Given the description of an element on the screen output the (x, y) to click on. 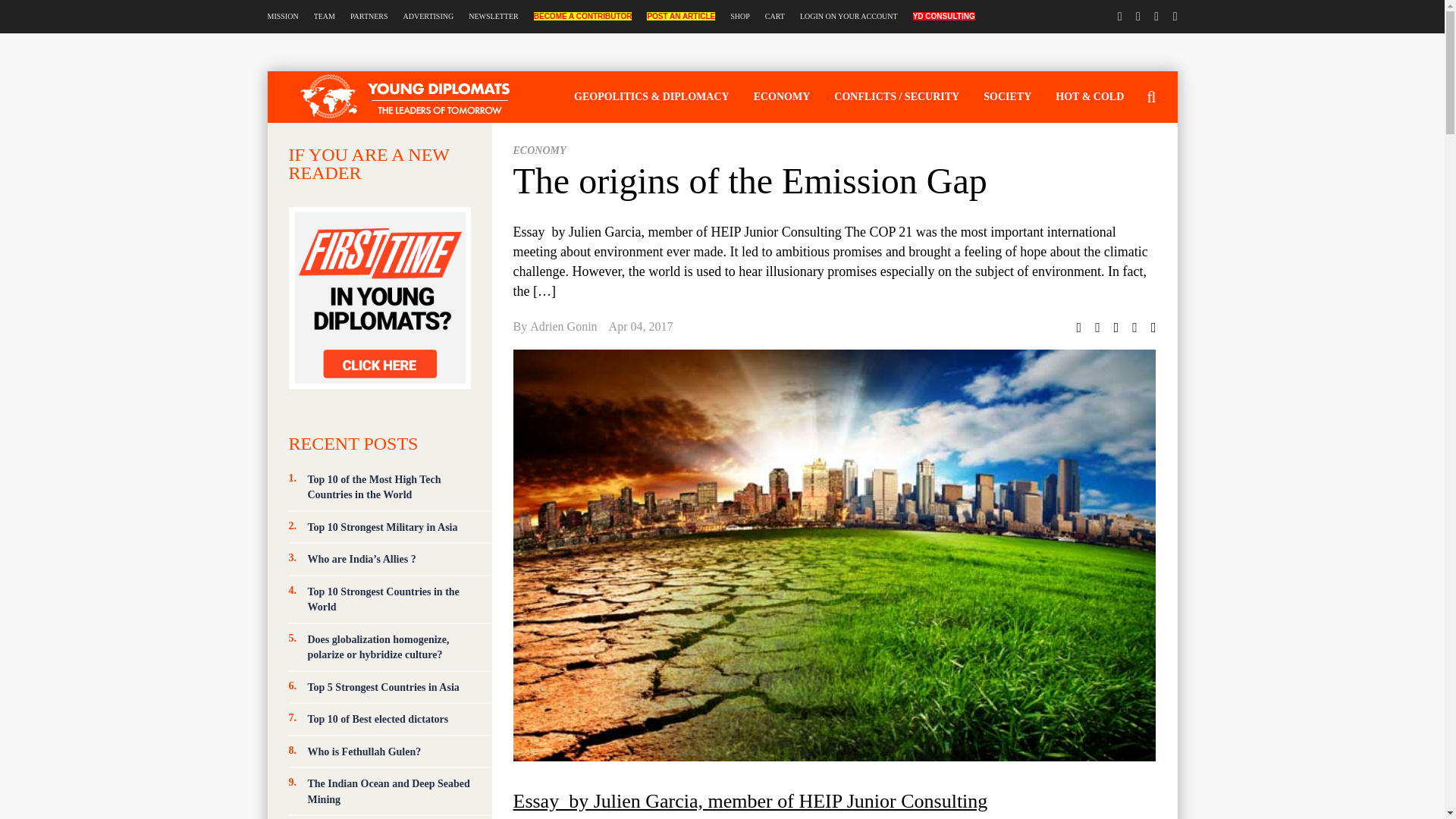
TEAM (324, 16)
youtube (1175, 15)
POST AN ARTICLE (680, 16)
ECONOMY (781, 96)
PARTNERS (369, 16)
LOGIN ON YOUR ACCOUNT (848, 16)
twitter (1120, 15)
MISSION (282, 16)
SOCIETY (1007, 96)
BECOME A CONTRIBUTOR (582, 16)
NEWSLETTER (493, 16)
ADVERTISING (428, 16)
facebook (1137, 15)
Instagram (1156, 15)
SHOP (739, 16)
